Given the description of an element on the screen output the (x, y) to click on. 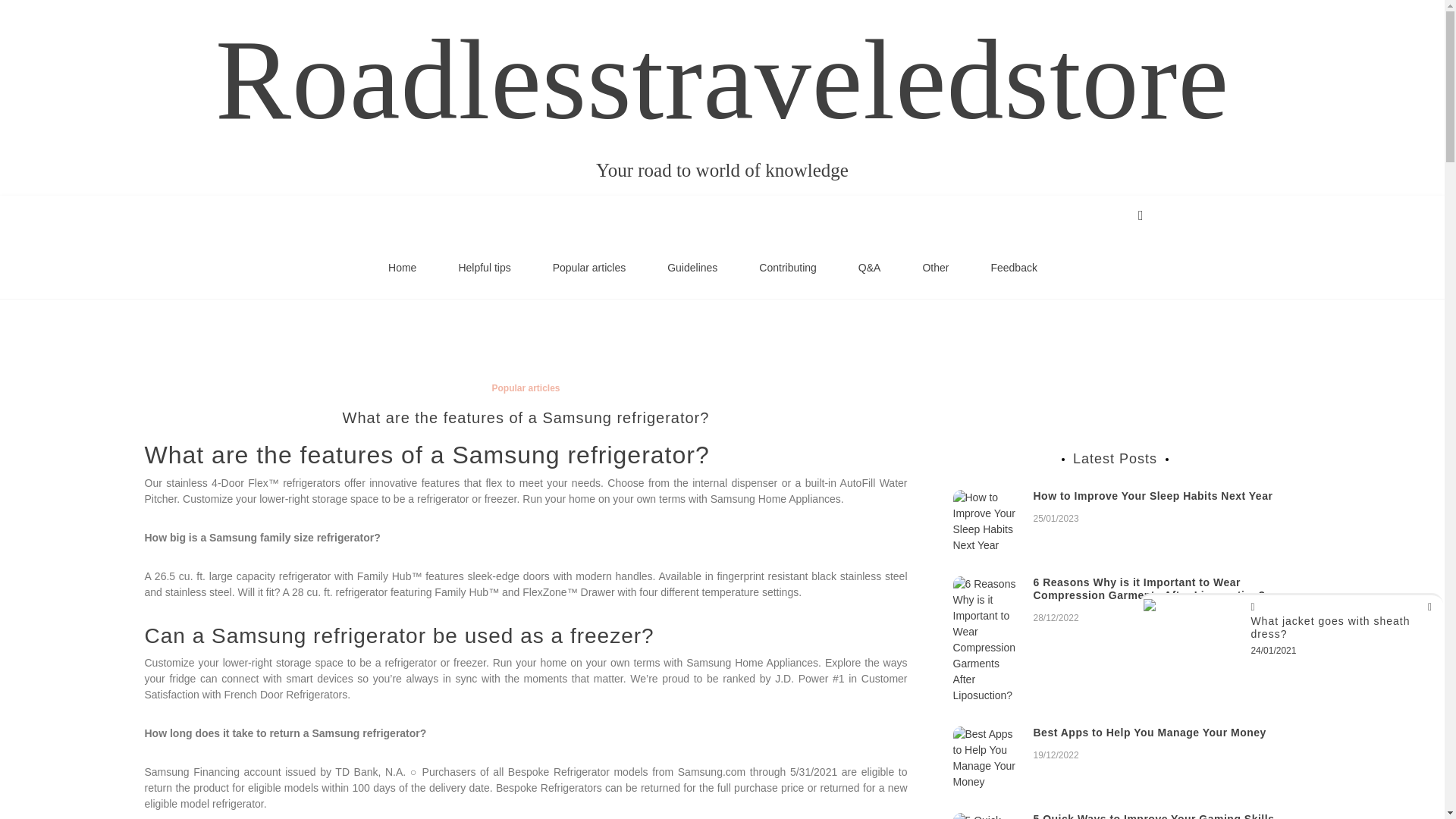
Helpful tips (483, 267)
Contributing (788, 267)
Popular articles (589, 267)
Contributing (788, 267)
Guidelines (692, 267)
Popular articles (589, 267)
Helpful tips (483, 267)
Home (402, 267)
Other (935, 267)
Feedback (1013, 267)
Popular articles (525, 388)
Guidelines (692, 267)
Home (402, 267)
Other (935, 267)
